Given the description of an element on the screen output the (x, y) to click on. 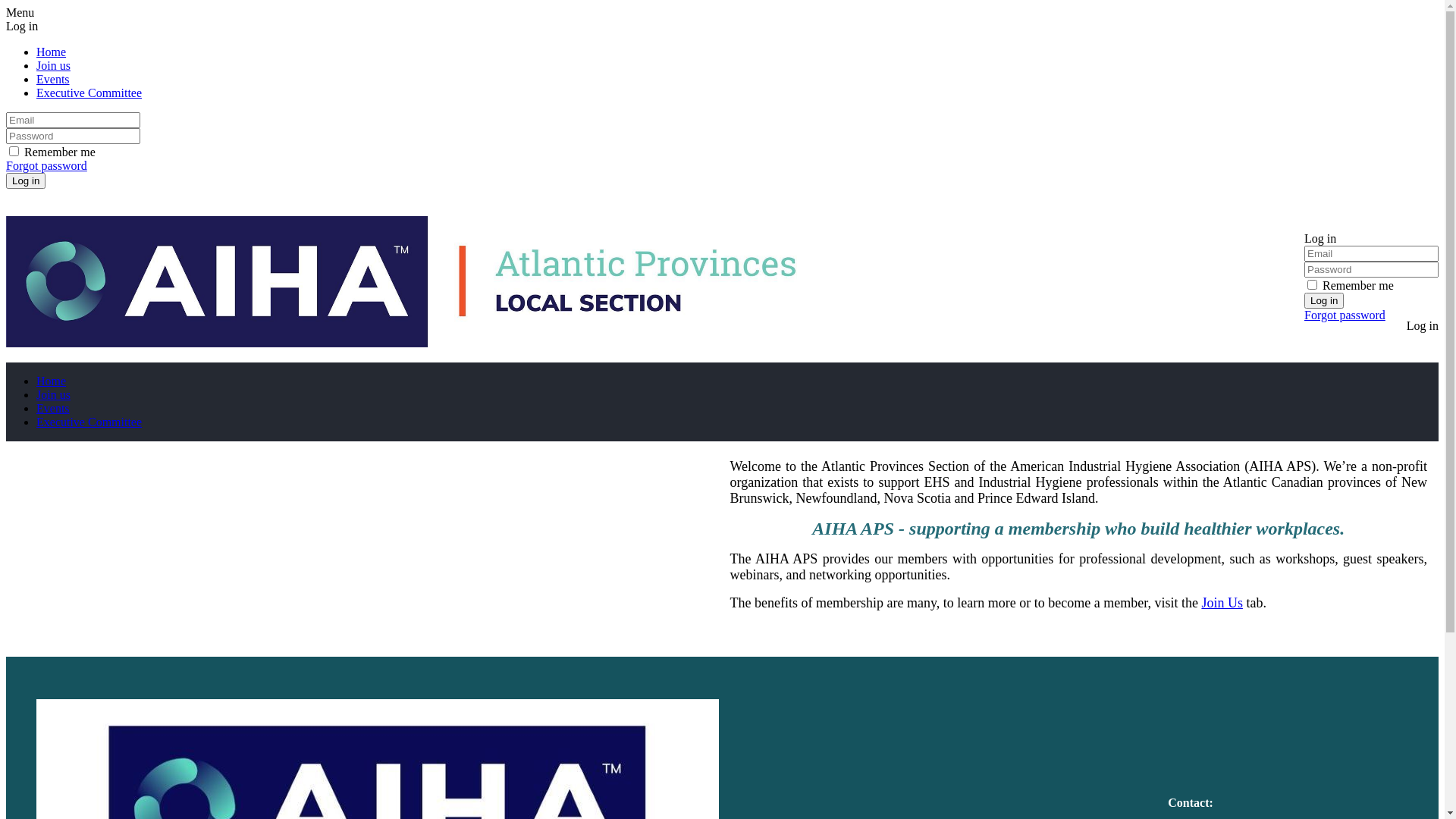
Log in Element type: text (25, 180)
Home Element type: text (50, 51)
Events Element type: text (52, 407)
Executive Committee Element type: text (88, 92)
Home Element type: text (50, 380)
Log in Element type: text (1323, 300)
Executive Committee Element type: text (88, 421)
Join us Element type: text (53, 65)
Events Element type: text (52, 78)
Join us Element type: text (53, 394)
Forgot password Element type: text (1344, 314)
Log in Element type: text (1320, 238)
Forgot password Element type: text (46, 165)
Join Us Element type: text (1221, 602)
